Given the description of an element on the screen output the (x, y) to click on. 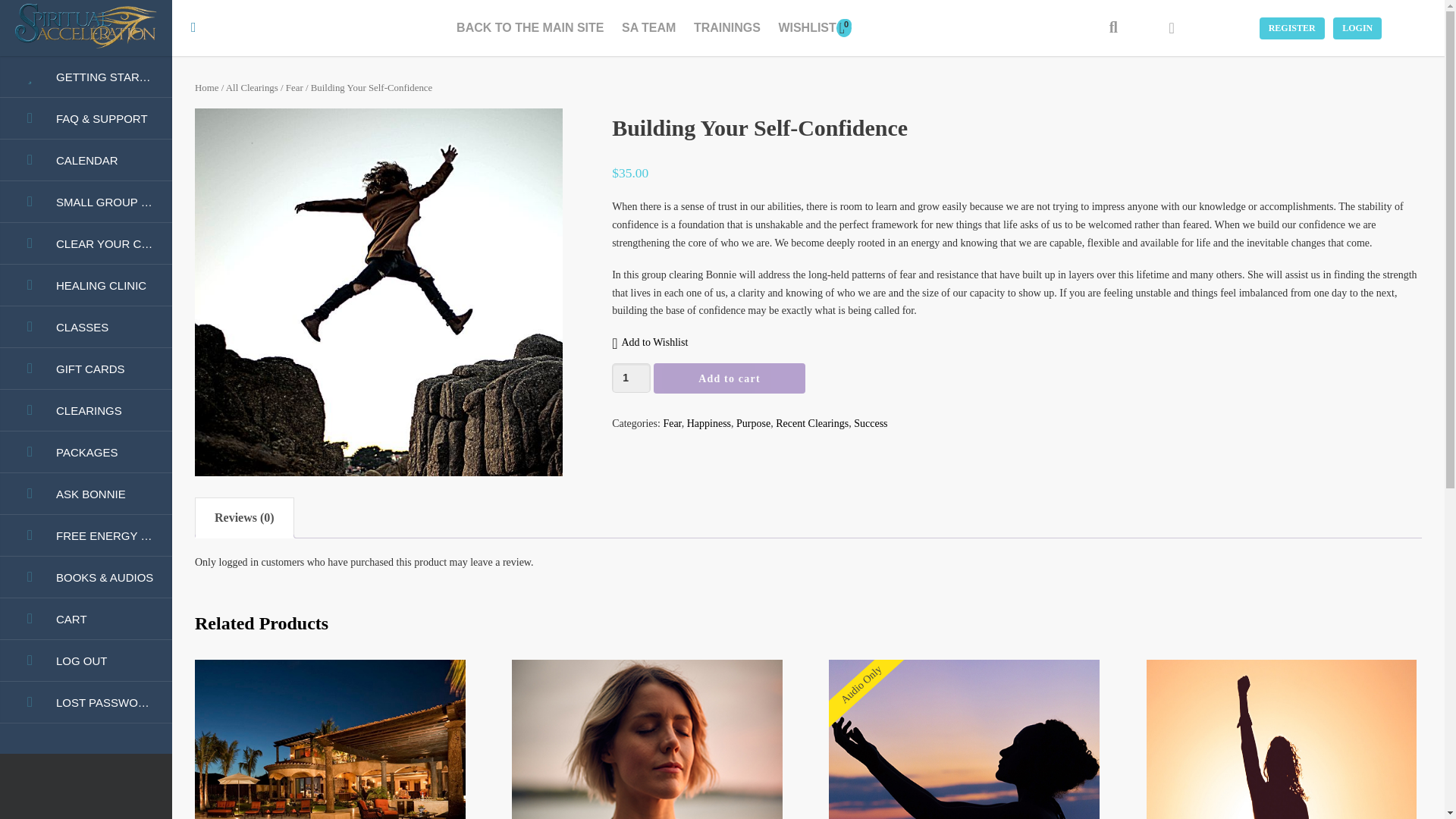
1 (630, 378)
HEALING CLINIC (85, 285)
Search (1112, 28)
CLEAR YOUR CHAKRA SERIES (85, 243)
CLEARINGS (85, 410)
REGISTER (1291, 27)
TRAININGS (726, 29)
SA TEAM (648, 29)
ASK BONNIE (85, 494)
BACK TO THE MAIN SITE (529, 29)
SMALL GROUP ENERGY CLEARINGS (85, 201)
LOGIN (1357, 27)
GETTING STARTED (85, 76)
GIFT CARDS (85, 368)
